Given the description of an element on the screen output the (x, y) to click on. 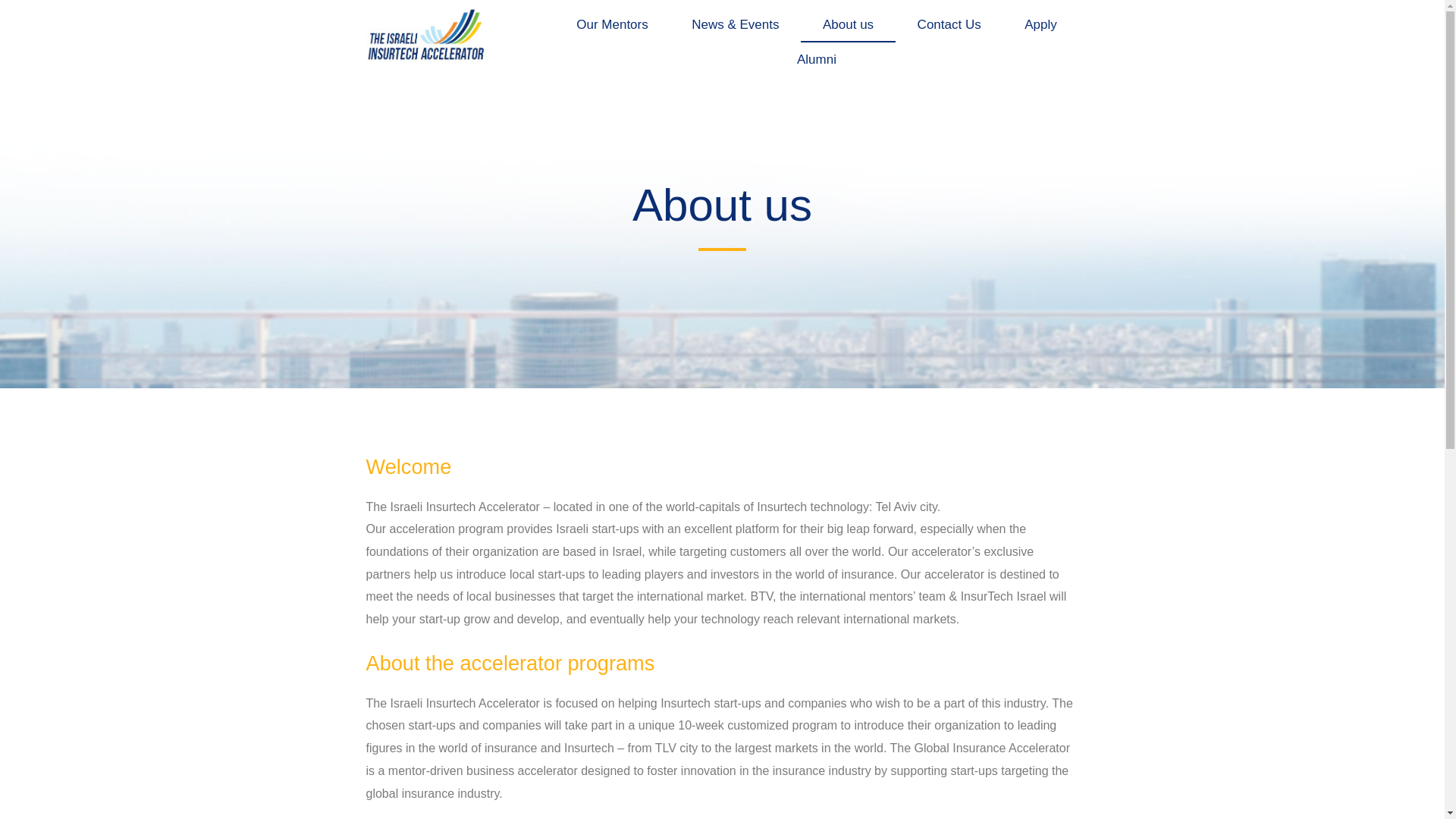
About us (847, 24)
Alumni (816, 59)
Our Mentors (611, 24)
Contact Us (949, 24)
Apply (1040, 24)
